Given the description of an element on the screen output the (x, y) to click on. 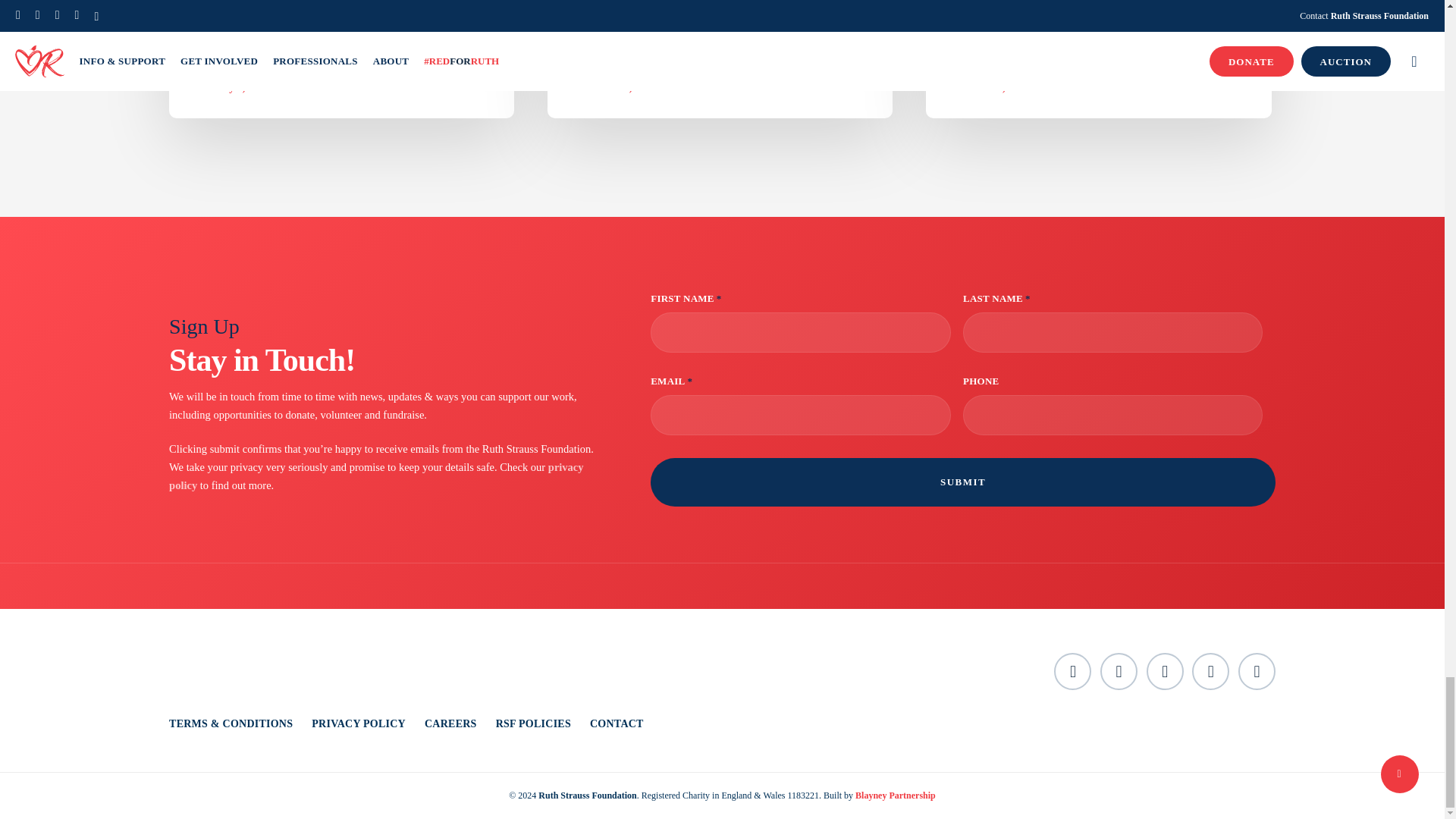
Submit (962, 481)
